Given the description of an element on the screen output the (x, y) to click on. 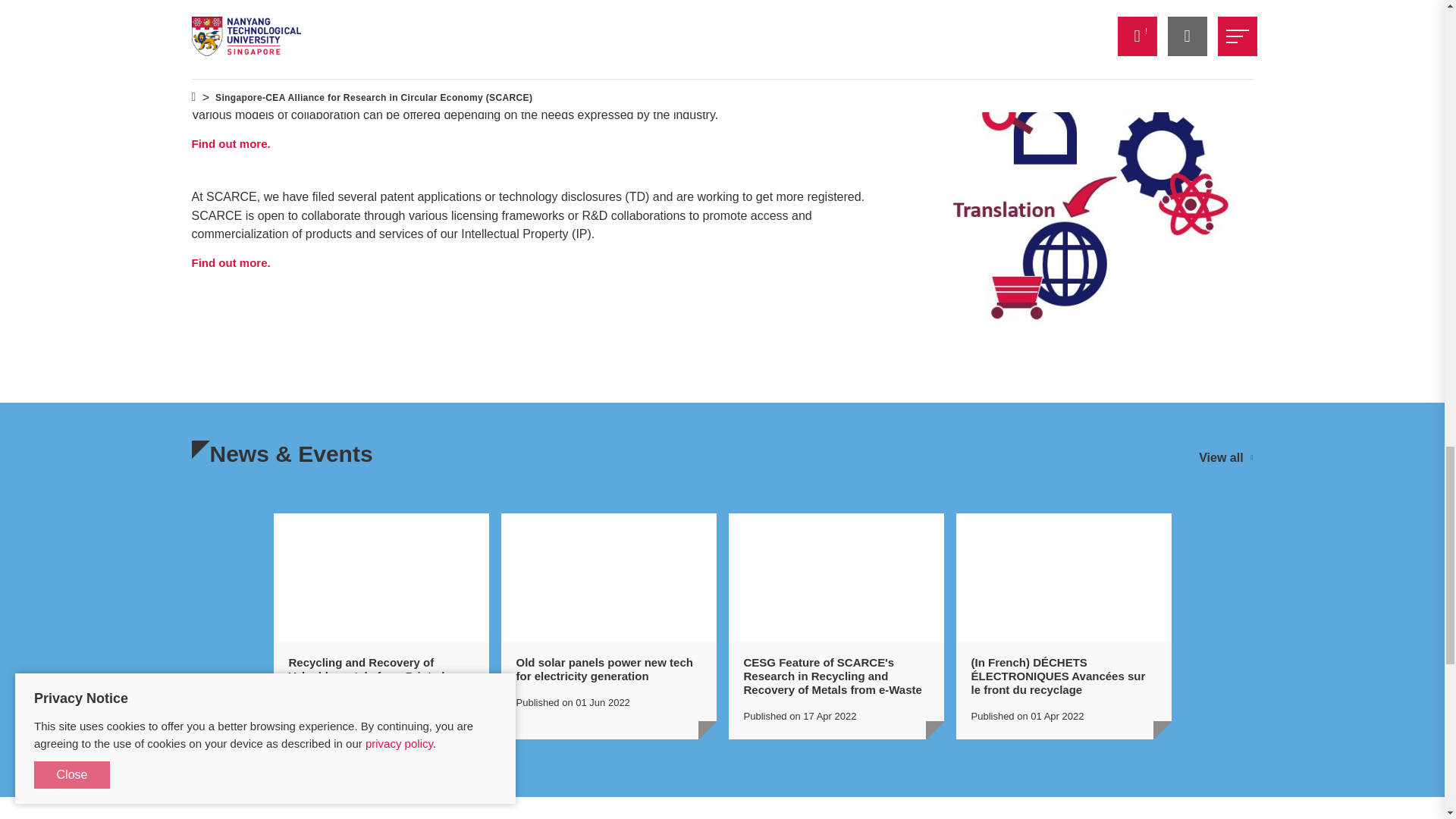
Value Chain of Research to Market (1085, 188)
